Given the description of an element on the screen output the (x, y) to click on. 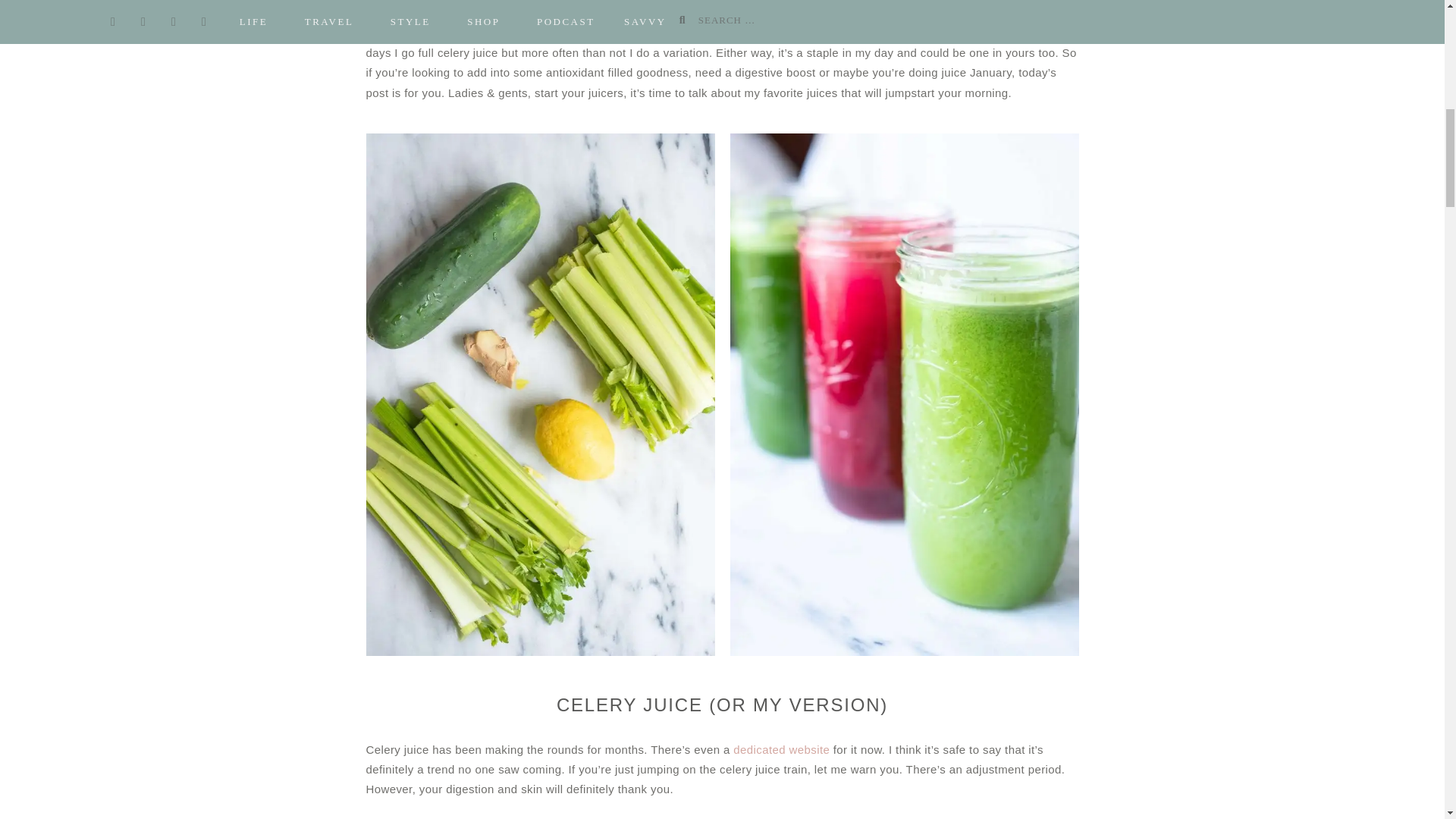
dedicated website (781, 748)
celery juice train (988, 32)
